Given the description of an element on the screen output the (x, y) to click on. 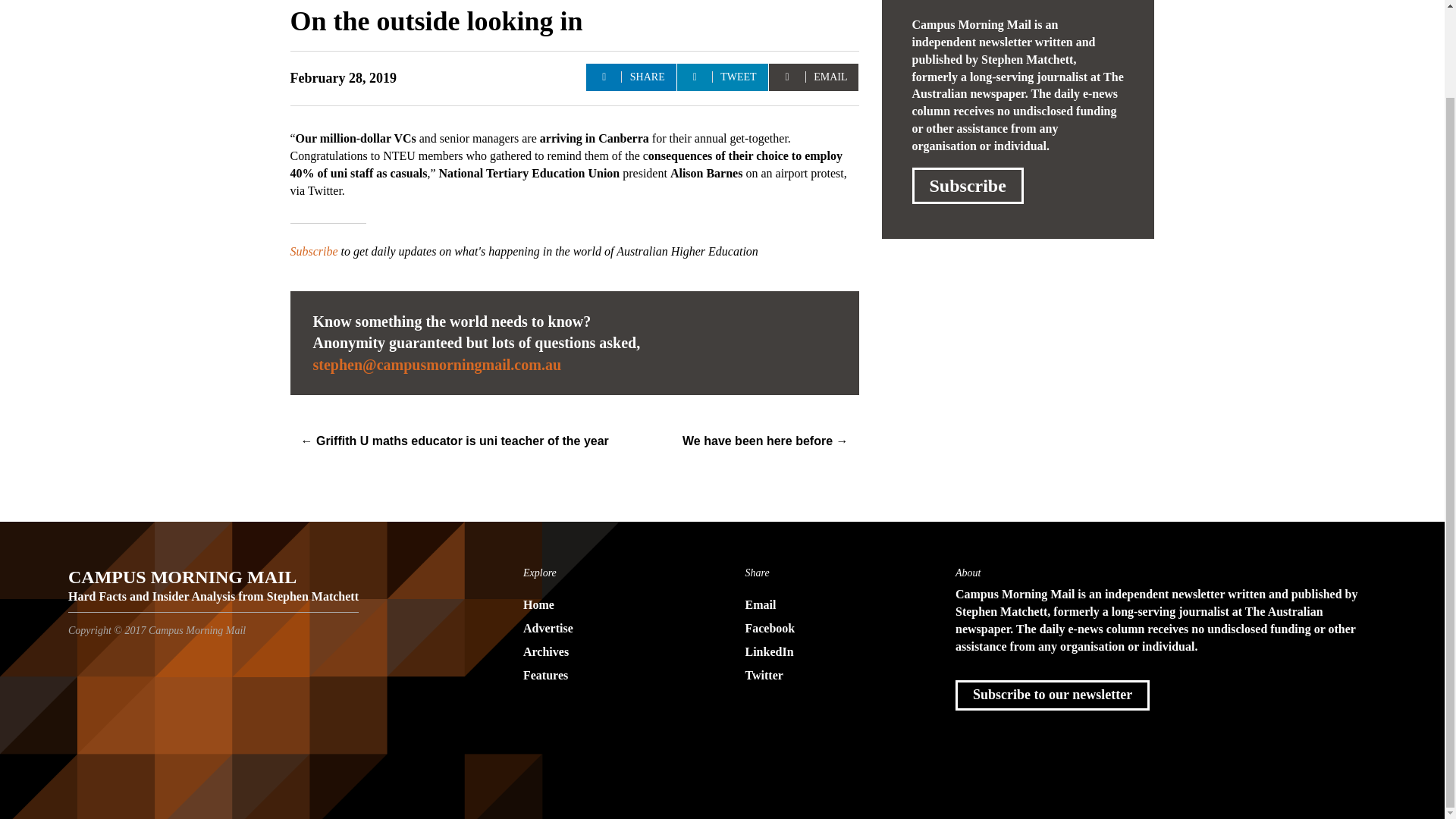
SHARE (630, 76)
EMAIL (813, 76)
Twitter (833, 675)
Archives (611, 652)
Share via email (813, 76)
Home (611, 605)
Facebook (833, 628)
Subscribe (313, 252)
LinkedIn (833, 652)
Subscribe to our newsletter (1052, 695)
